Given the description of an element on the screen output the (x, y) to click on. 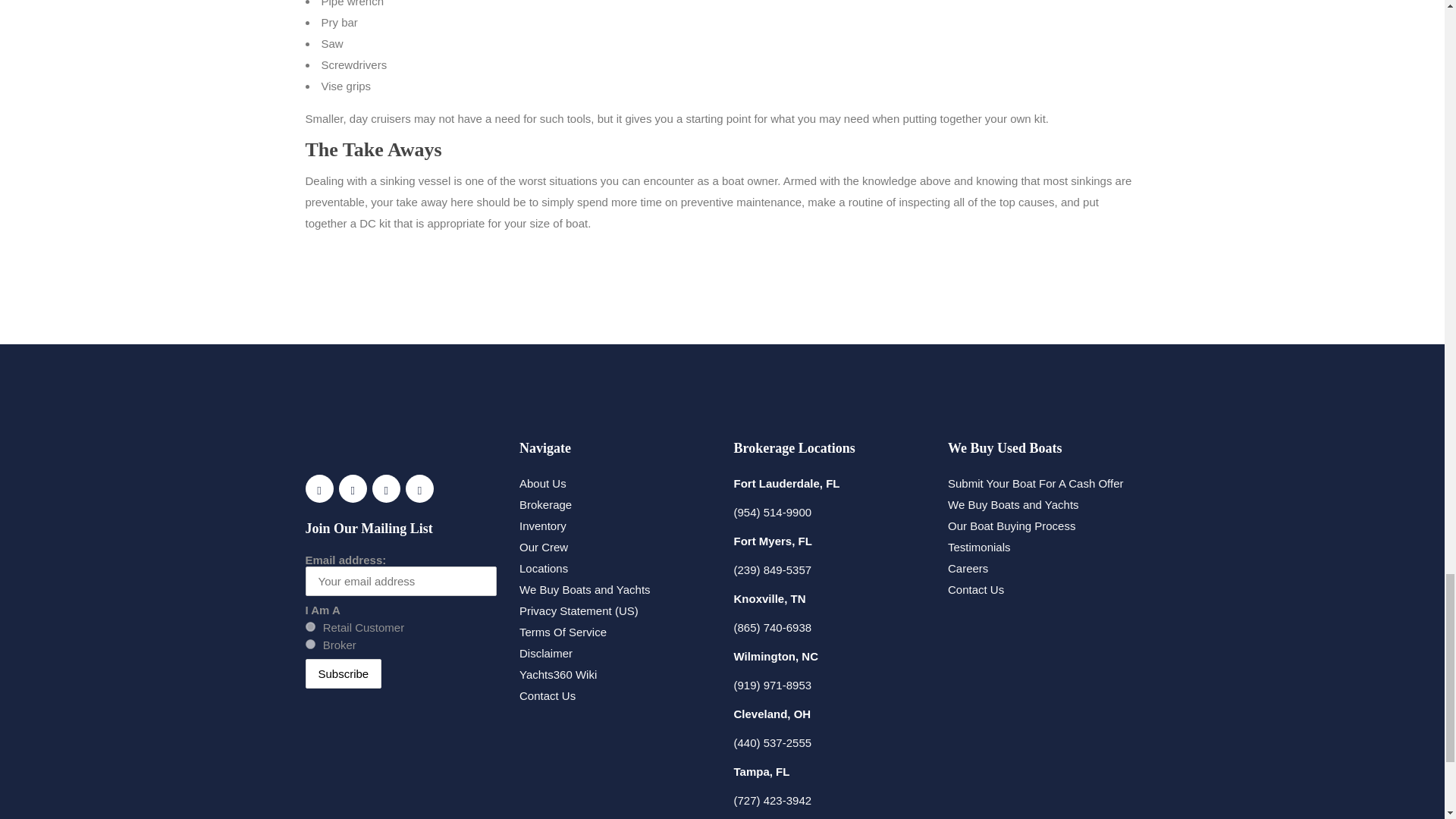
Subscribe (342, 673)
489570a2d3 (309, 644)
7aa15a4976 (309, 626)
